Given the description of an element on the screen output the (x, y) to click on. 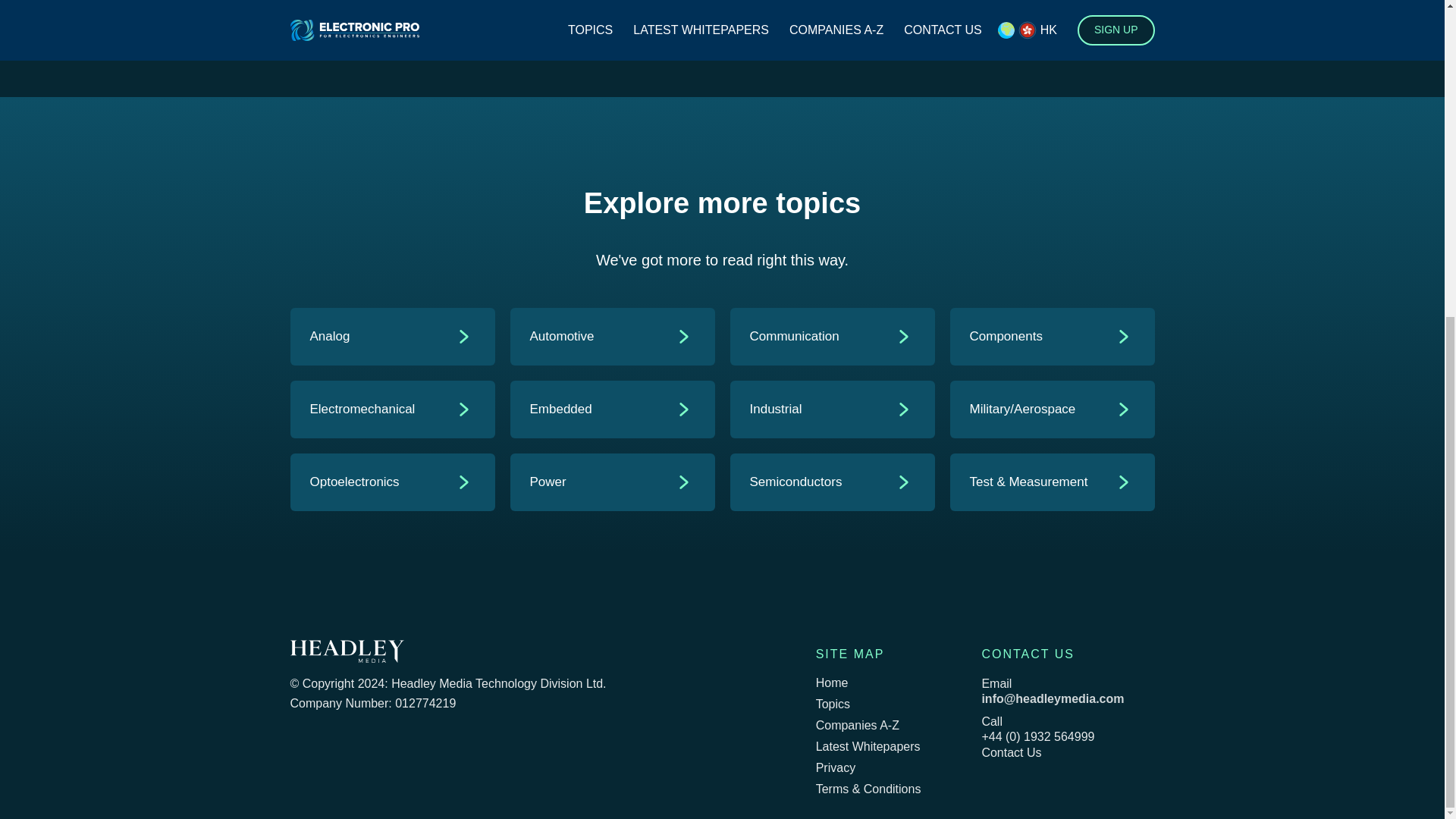
Automotive (602, 336)
Embedded (602, 409)
Electromechanical (381, 409)
Communication (822, 336)
Components (1042, 336)
Industrial (822, 409)
Analog (381, 336)
